Given the description of an element on the screen output the (x, y) to click on. 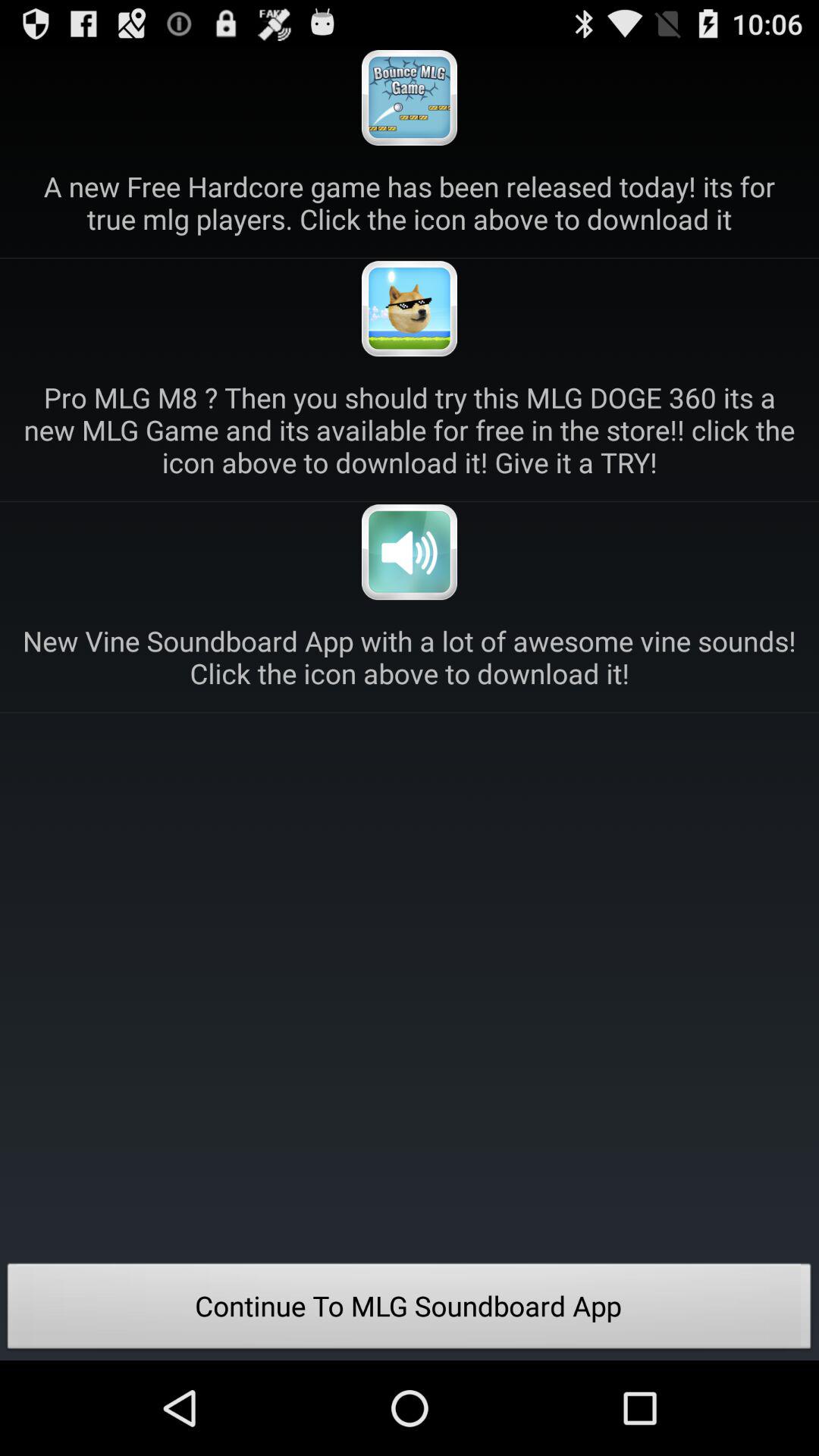
sound app download (409, 552)
